Given the description of an element on the screen output the (x, y) to click on. 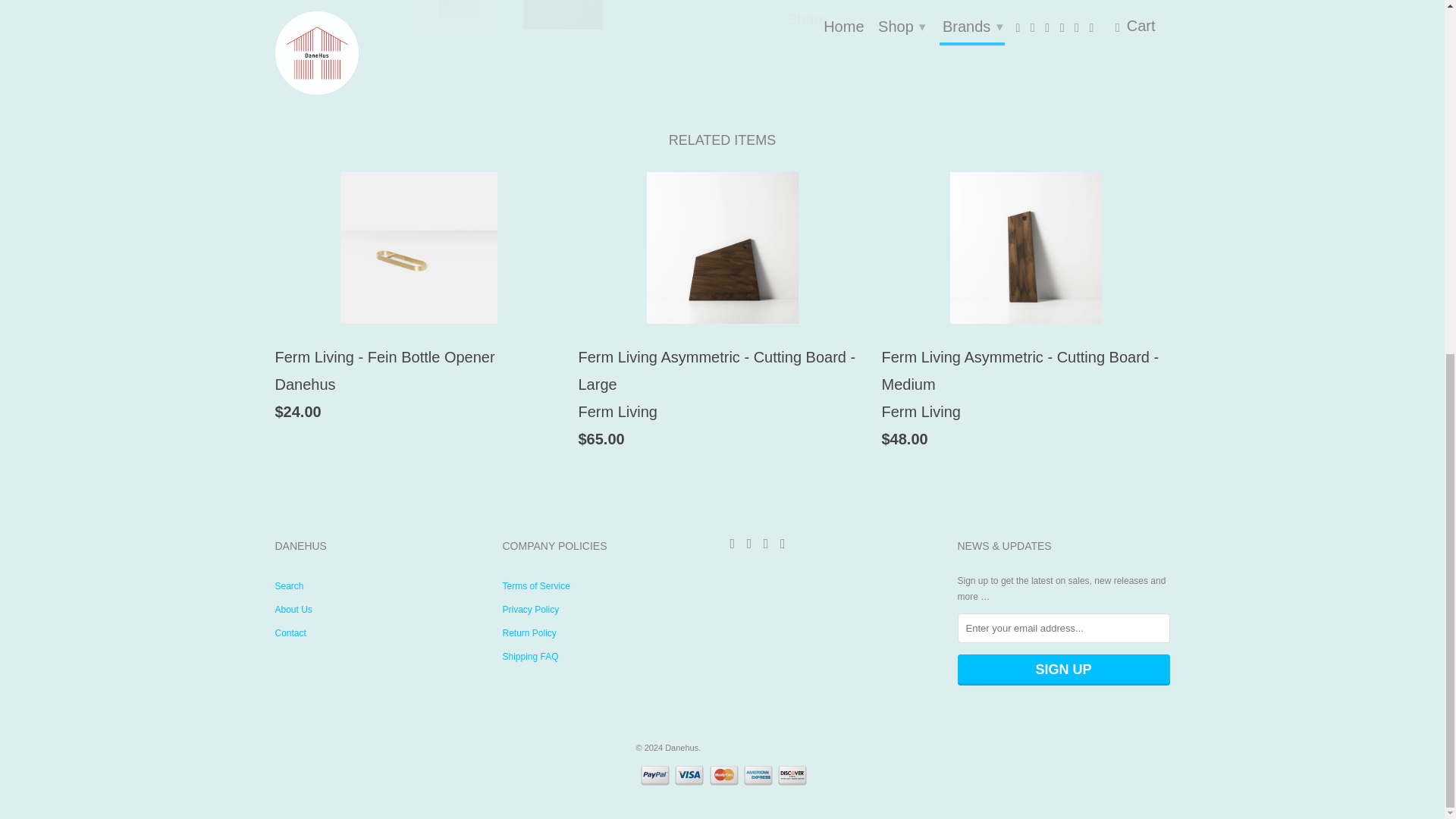
Sign Up (1062, 669)
Email this to a friend (906, 21)
Share this on Pinterest (874, 21)
Share this on Facebook (857, 21)
